Given the description of an element on the screen output the (x, y) to click on. 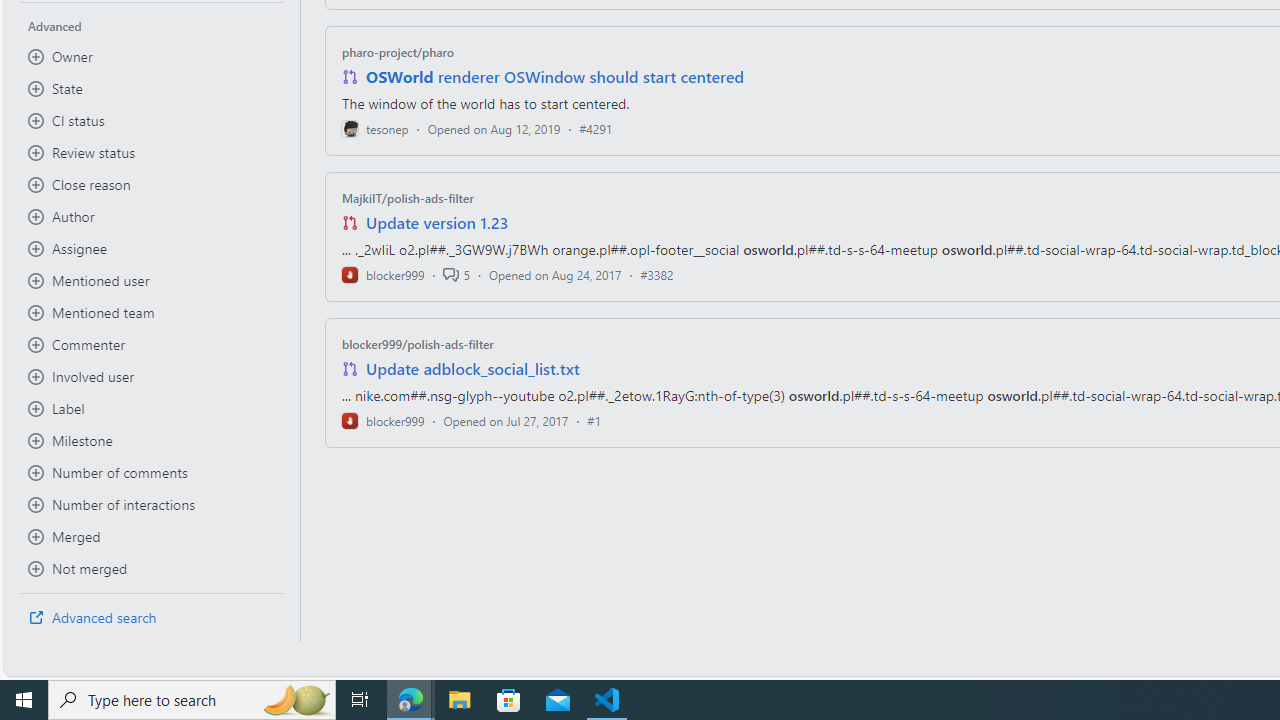
Update version 1.23 (437, 222)
#4291 (595, 128)
blocker999/polish-ads-filter (417, 343)
Update adblock_social_list.txt (472, 368)
Advanced search (152, 617)
